Given the description of an element on the screen output the (x, y) to click on. 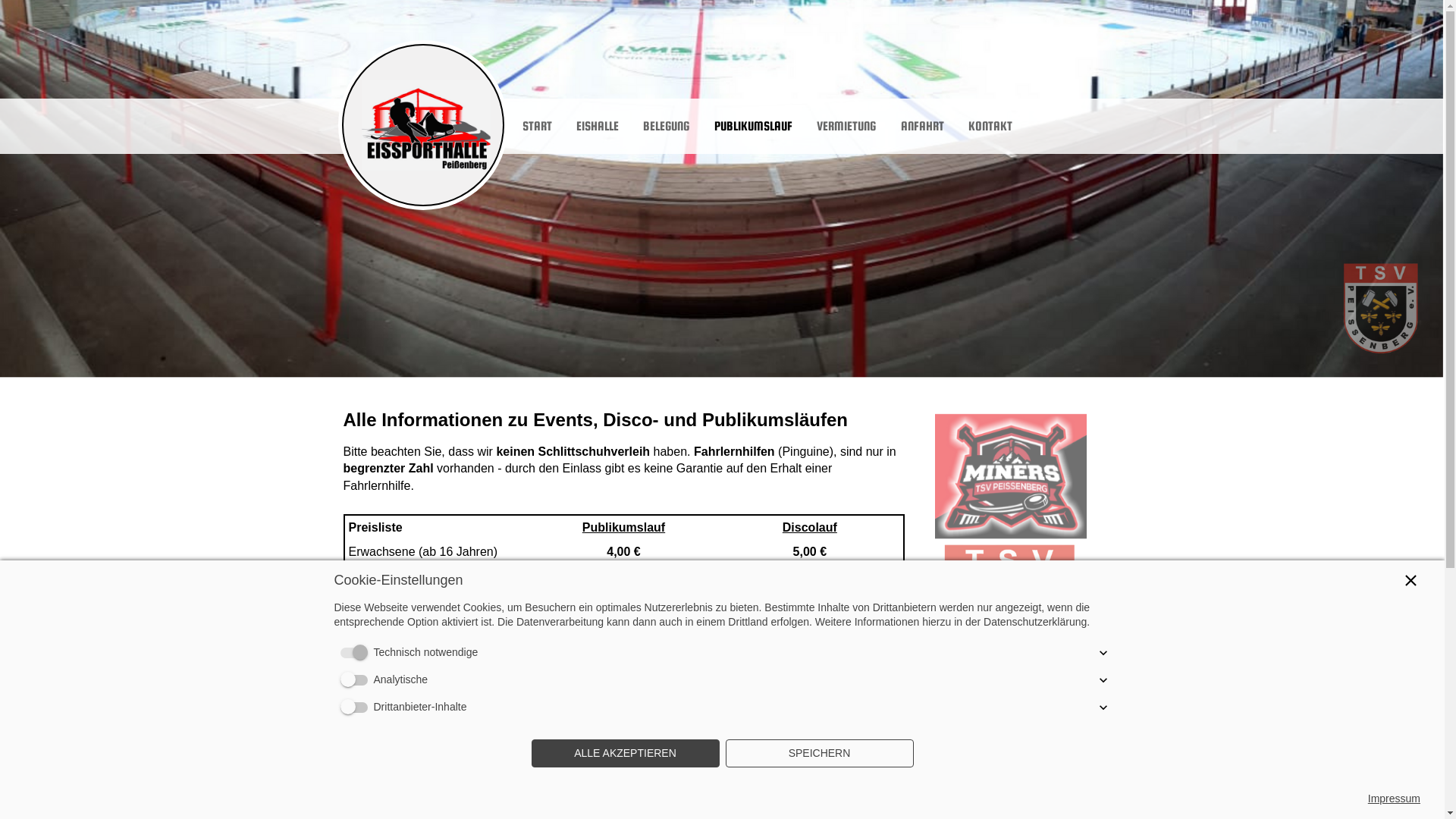
ANFAHRT Element type: text (921, 125)
ALLE AKZEPTIEREN Element type: text (624, 753)
KONTAKT Element type: text (990, 125)
BELEGUNG Element type: text (665, 125)
VERMIETUNG Element type: text (846, 125)
EISHALLE Element type: text (597, 125)
Belegunsplan Element type: text (466, 737)
  Element type: text (422, 124)
START Element type: text (536, 125)
PUBLIKUMSLAUF Element type: text (753, 125)
SPEICHERN Element type: text (818, 753)
Publikumslauf Element type: text (623, 526)
Impressum Element type: text (1394, 798)
Discolauf Element type: text (809, 526)
